Given the description of an element on the screen output the (x, y) to click on. 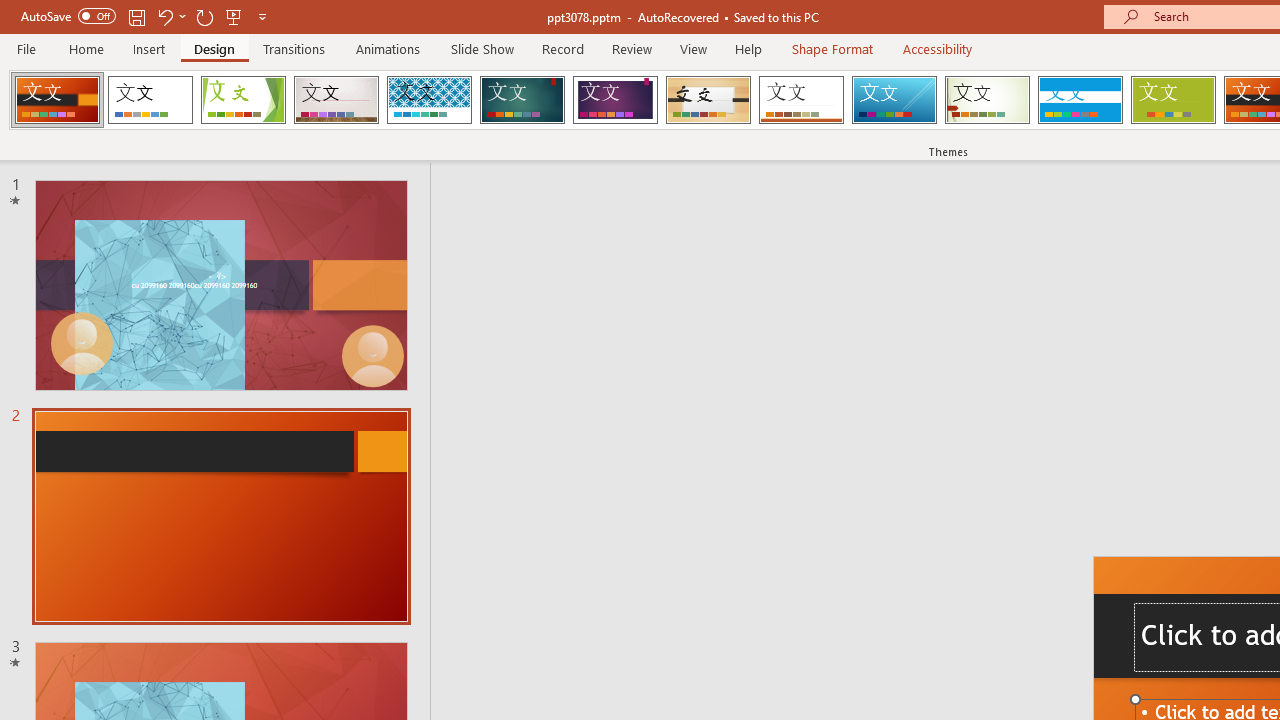
Basis (1172, 100)
Retrospect (801, 100)
Berlin (57, 100)
Banded (1080, 100)
